Given the description of an element on the screen output the (x, y) to click on. 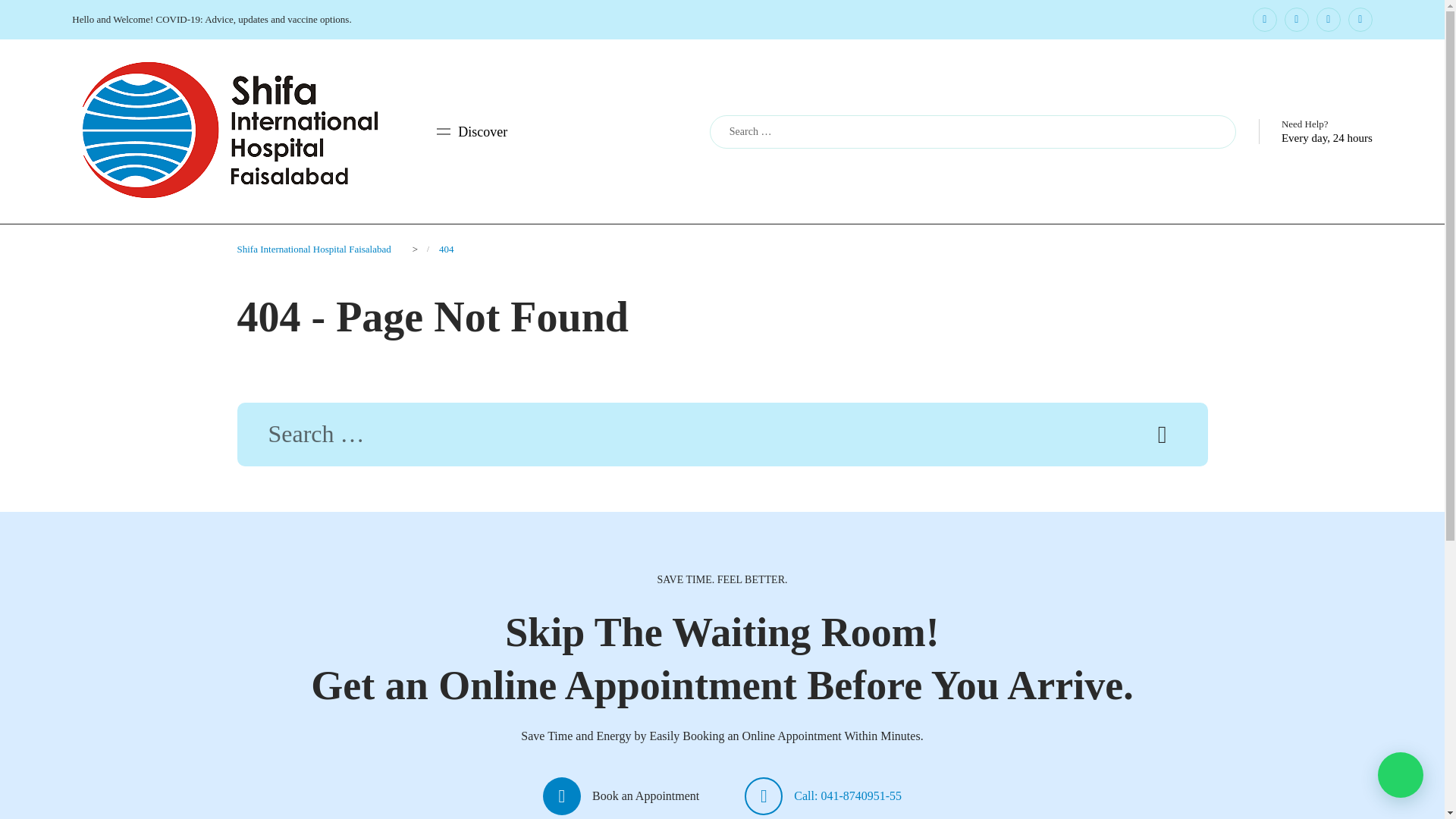
Search (1161, 434)
Every day, 24 hours (1327, 137)
Go to 404. (446, 248)
Discover (471, 131)
404 (446, 248)
Search (1209, 132)
Shifa International Hospital Faisalabad (312, 248)
Go to Shifa International Hospital Faisalabad. (312, 248)
Call: 041-8740951-55 (822, 796)
Book an Appointment (620, 796)
